Given the description of an element on the screen output the (x, y) to click on. 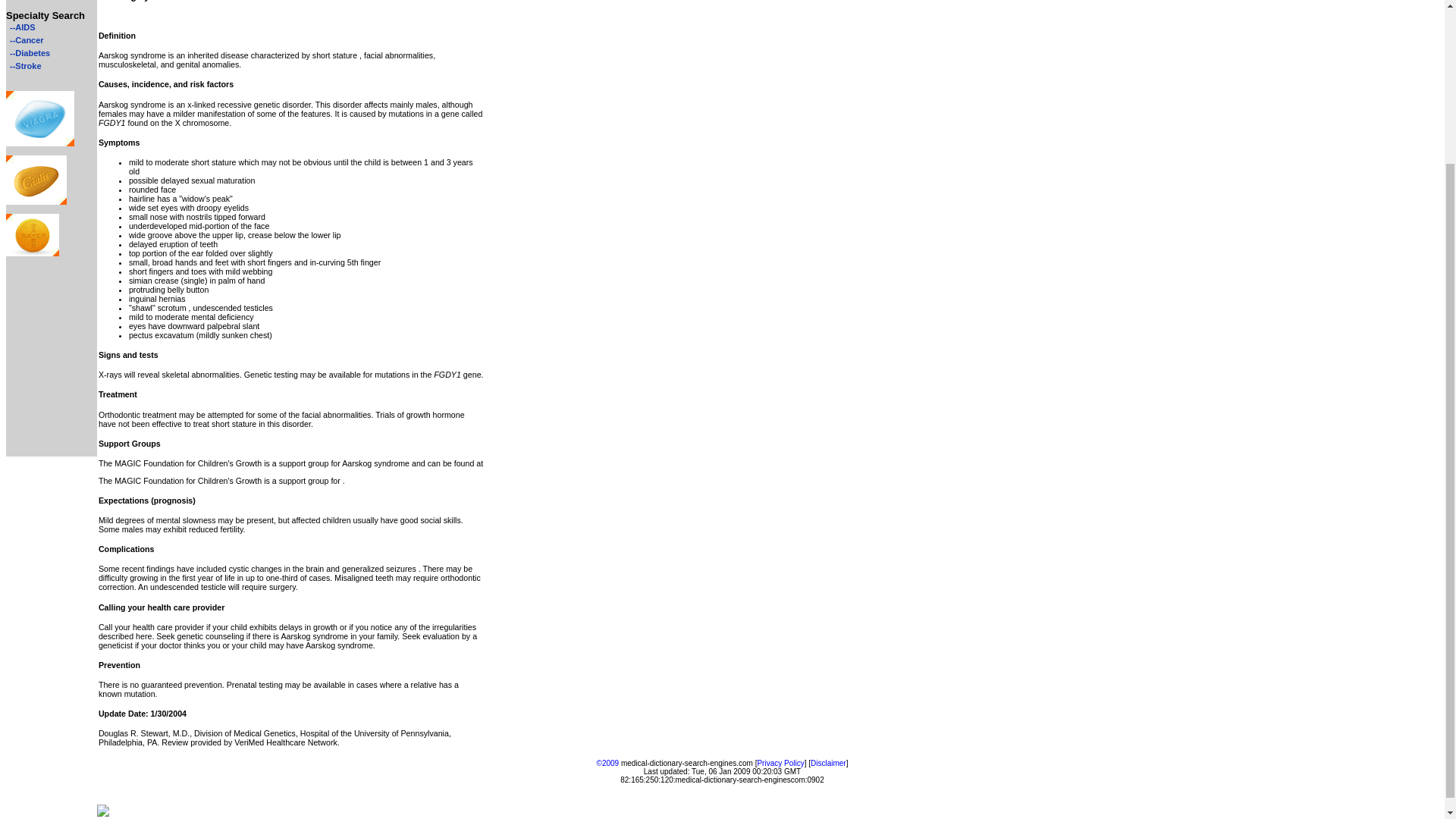
Levitra (32, 252)
--Cancer (24, 40)
Cialis (35, 201)
Viagra (39, 143)
--Stroke (23, 65)
--Diabetes (27, 52)
--AIDS (19, 26)
